Given the description of an element on the screen output the (x, y) to click on. 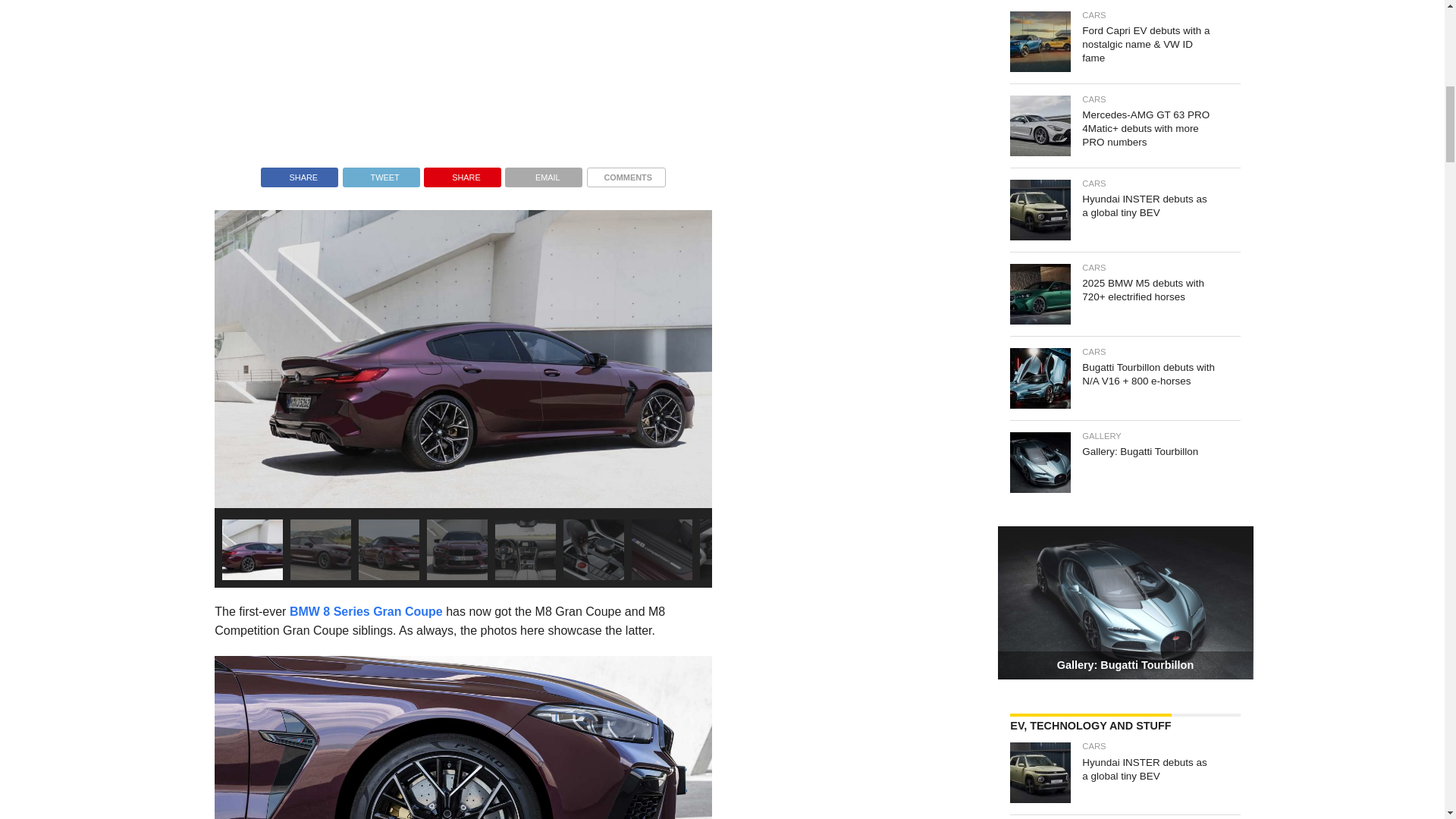
Share on Facebook (298, 173)
Pin This Post (461, 173)
Tweet This Post (381, 173)
Advertisement (588, 76)
